Given the description of an element on the screen output the (x, y) to click on. 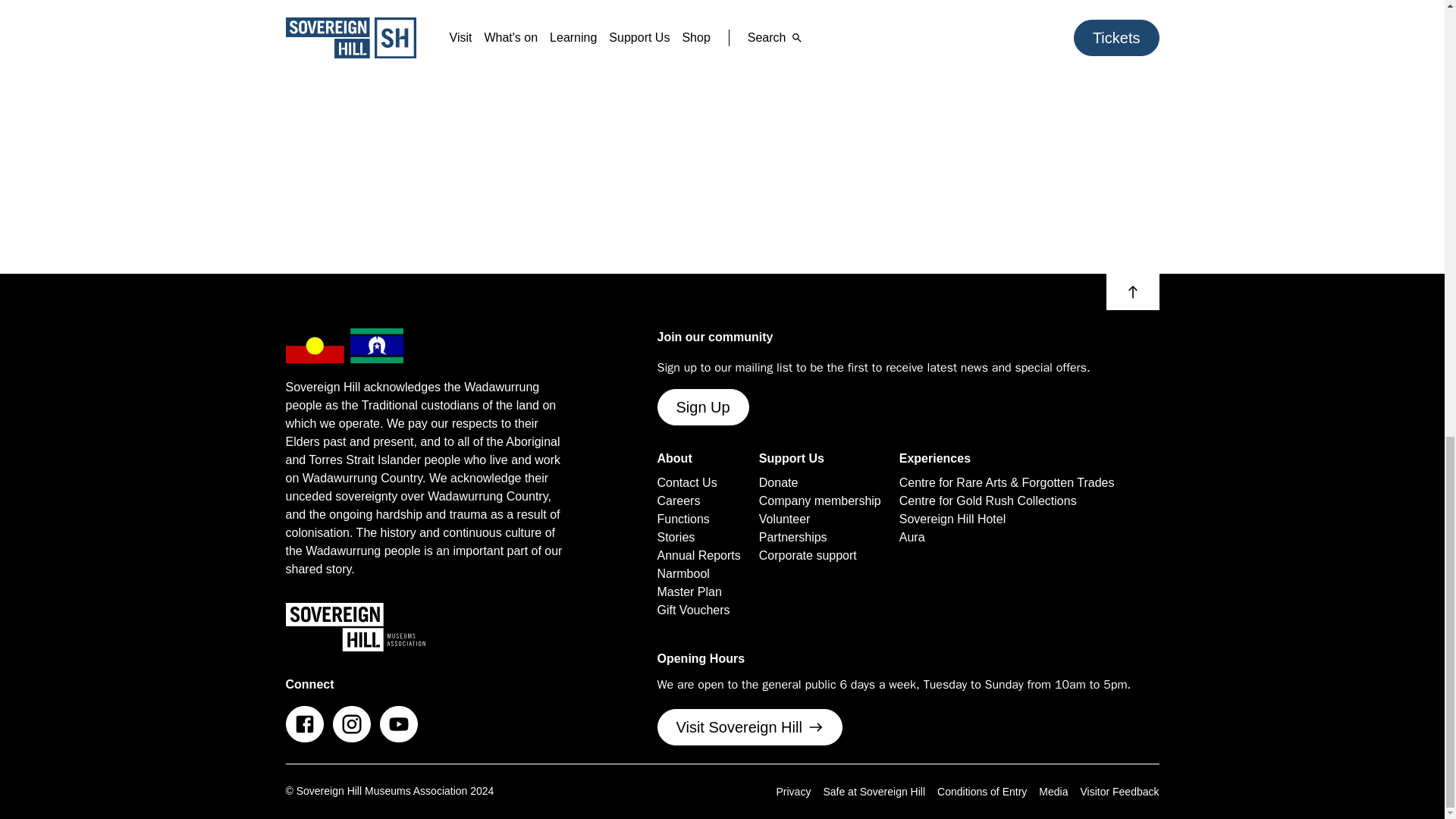
Annual Reports (697, 556)
Donate (777, 483)
Corporate support (807, 556)
Stories (675, 537)
Privacy (793, 791)
Experiences (935, 458)
Careers (678, 501)
Centre for Gold Rush Collections (988, 501)
Safe at Sovereign Hill (873, 791)
Gift Vouchers (692, 610)
